Given the description of an element on the screen output the (x, y) to click on. 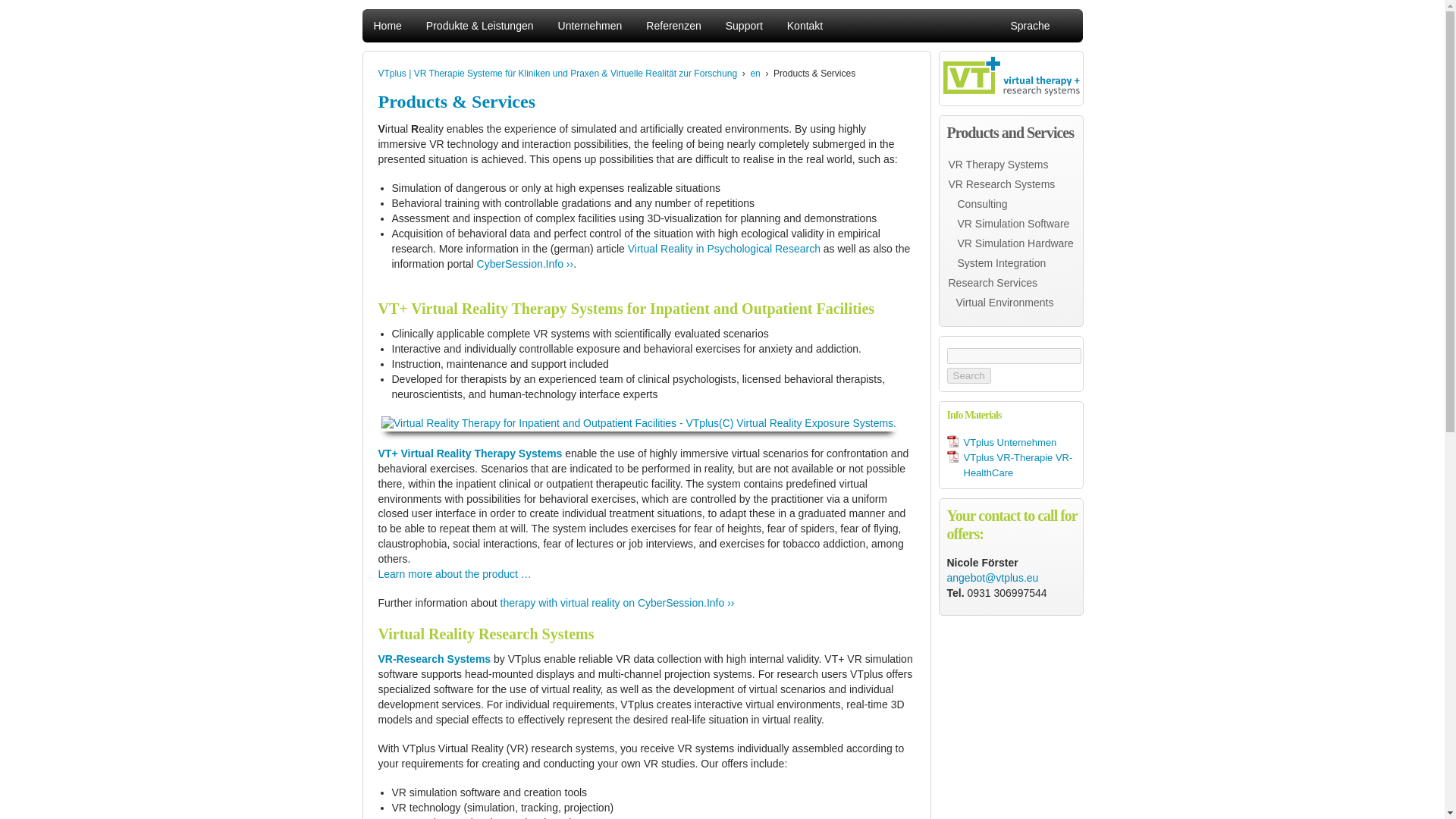
Unternehmen (590, 25)
Support (743, 25)
Referenzen (673, 25)
Search (968, 375)
Kontakt (804, 25)
Go to en. (754, 72)
Virtual Reality in Psychological Research (724, 248)
en (754, 72)
Home (386, 25)
